Given the description of an element on the screen output the (x, y) to click on. 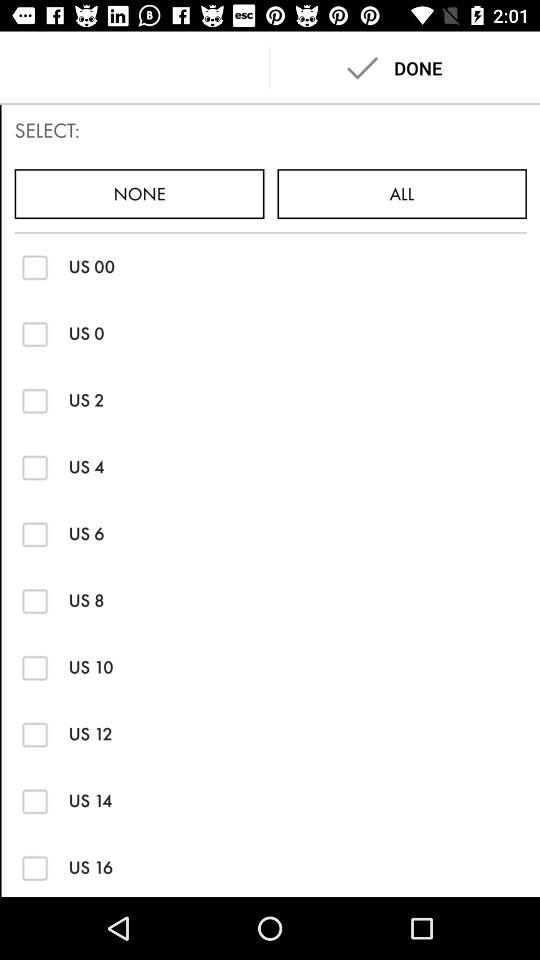
select this option (34, 266)
